Given the description of an element on the screen output the (x, y) to click on. 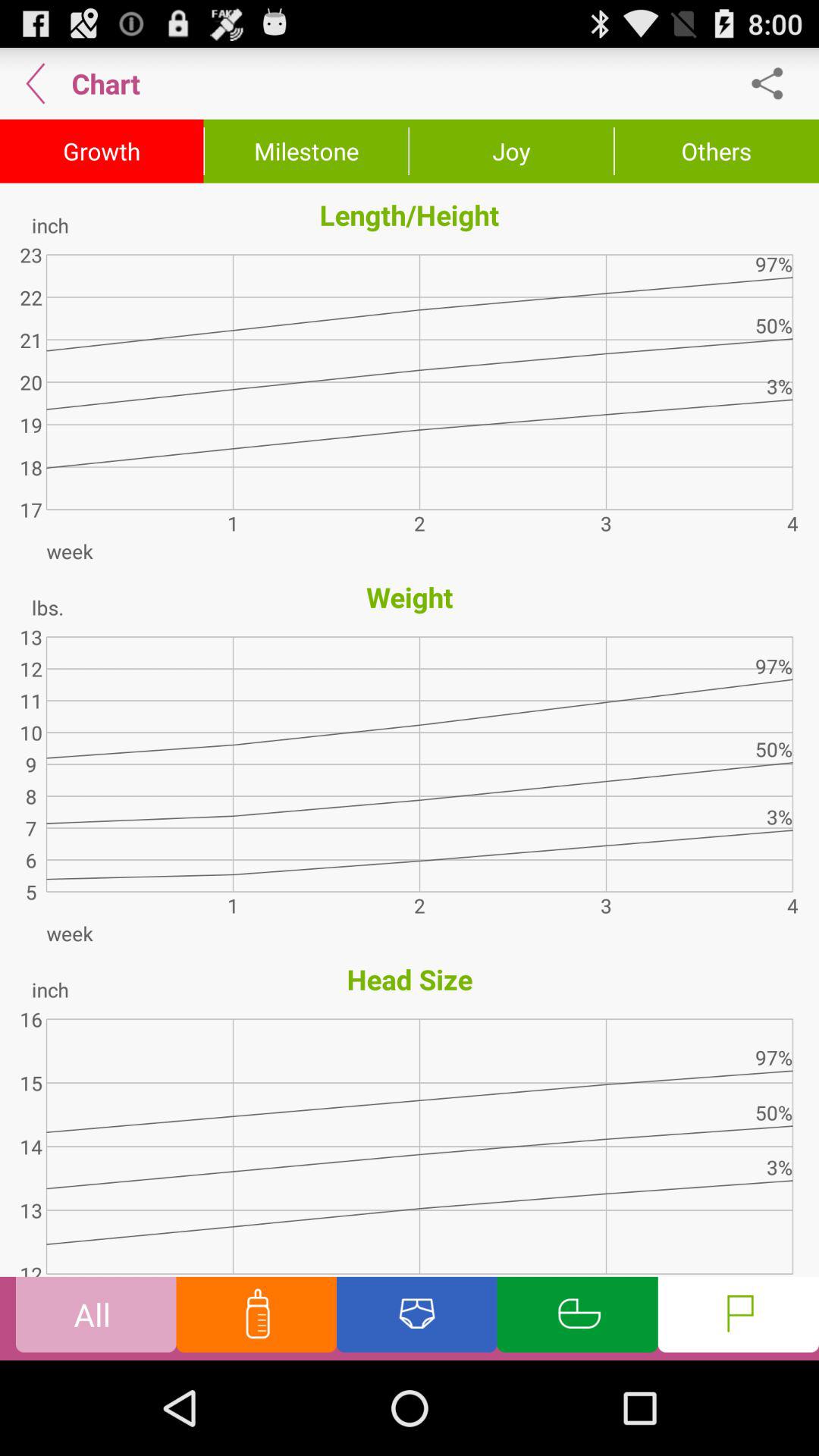
select the icon above the length/height icon (511, 151)
